Given the description of an element on the screen output the (x, y) to click on. 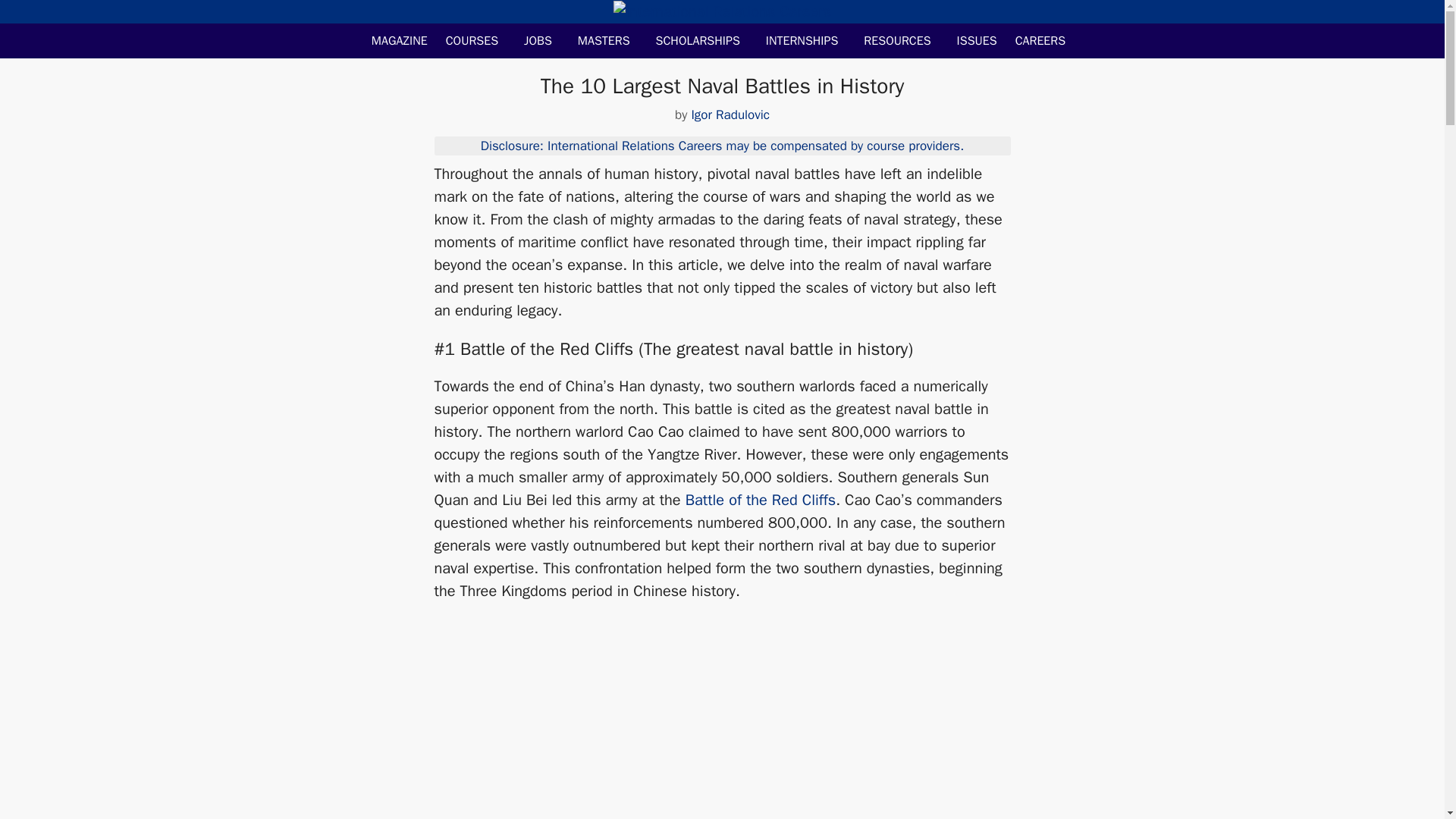
COURSES (475, 40)
View all posts by Igor Radulovic (730, 114)
MAGAZINE (399, 40)
